Given the description of an element on the screen output the (x, y) to click on. 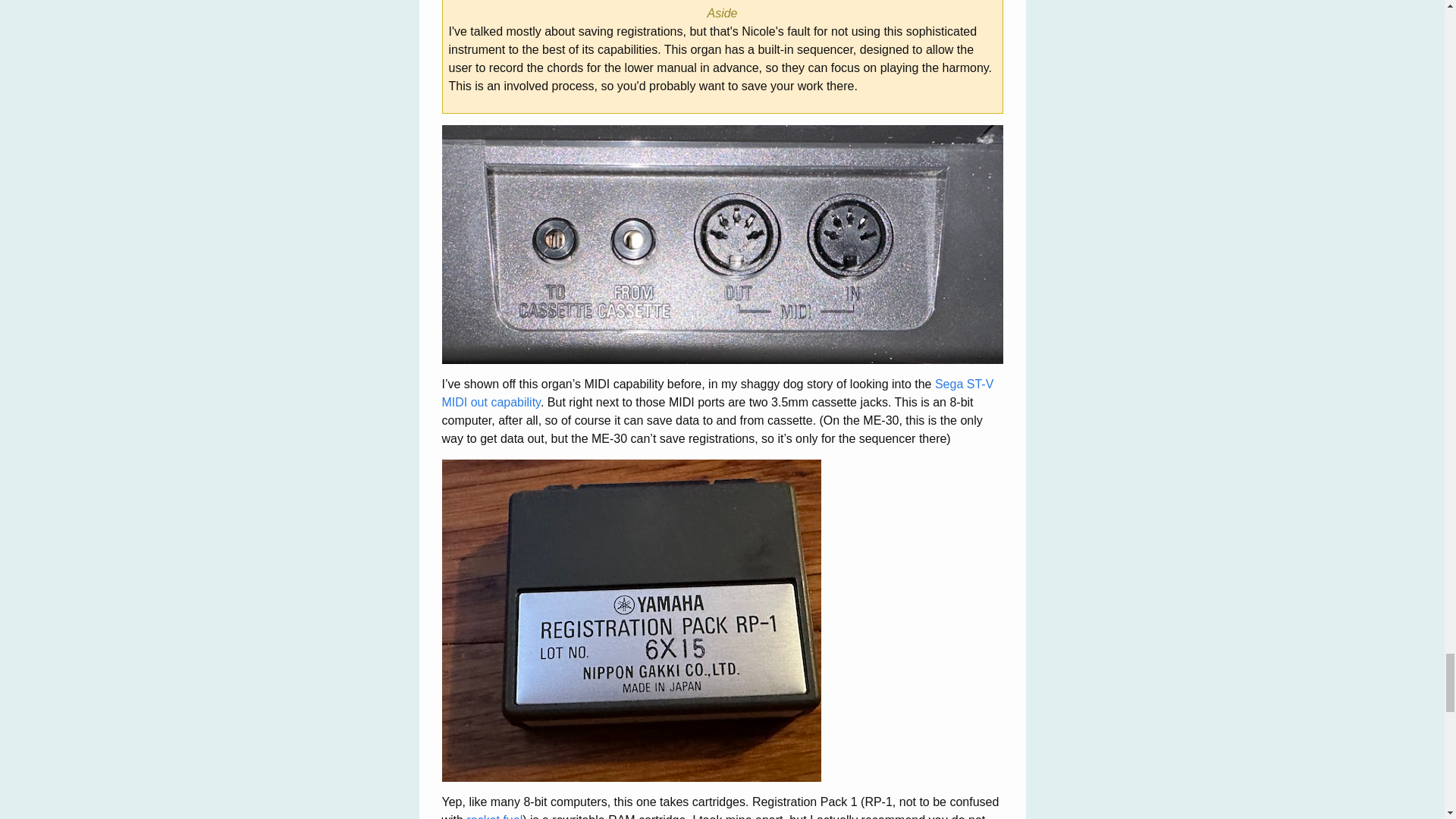
rocket fuel (493, 816)
of course my organ takes cartridges (631, 620)
input AND output?! choose one (722, 244)
Sega ST-V MIDI out capability (716, 392)
